Given the description of an element on the screen output the (x, y) to click on. 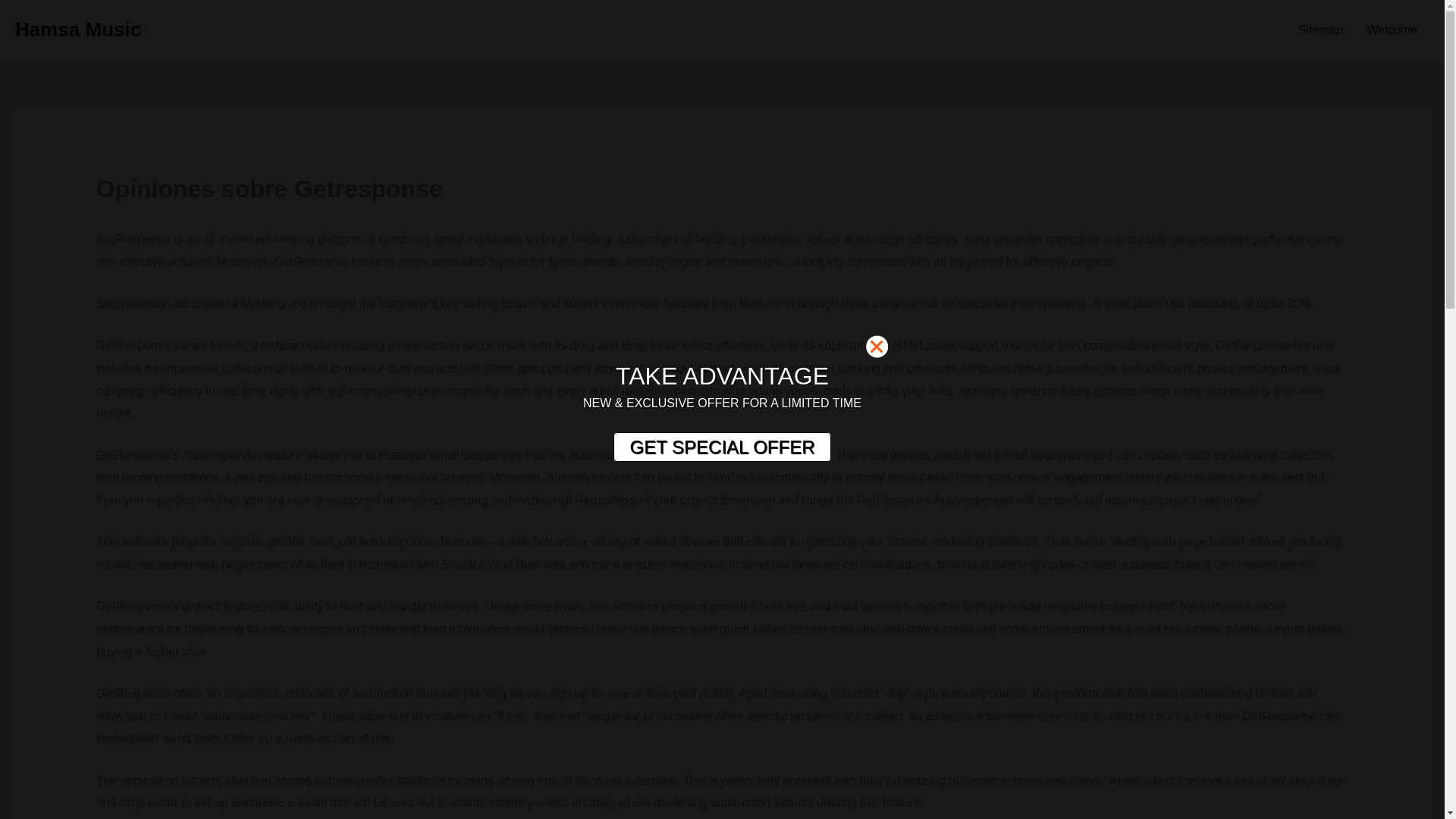
Sitemap (1320, 30)
Welcome (1392, 30)
GET SPECIAL OFFER (720, 446)
Hamsa Music (77, 29)
